Given the description of an element on the screen output the (x, y) to click on. 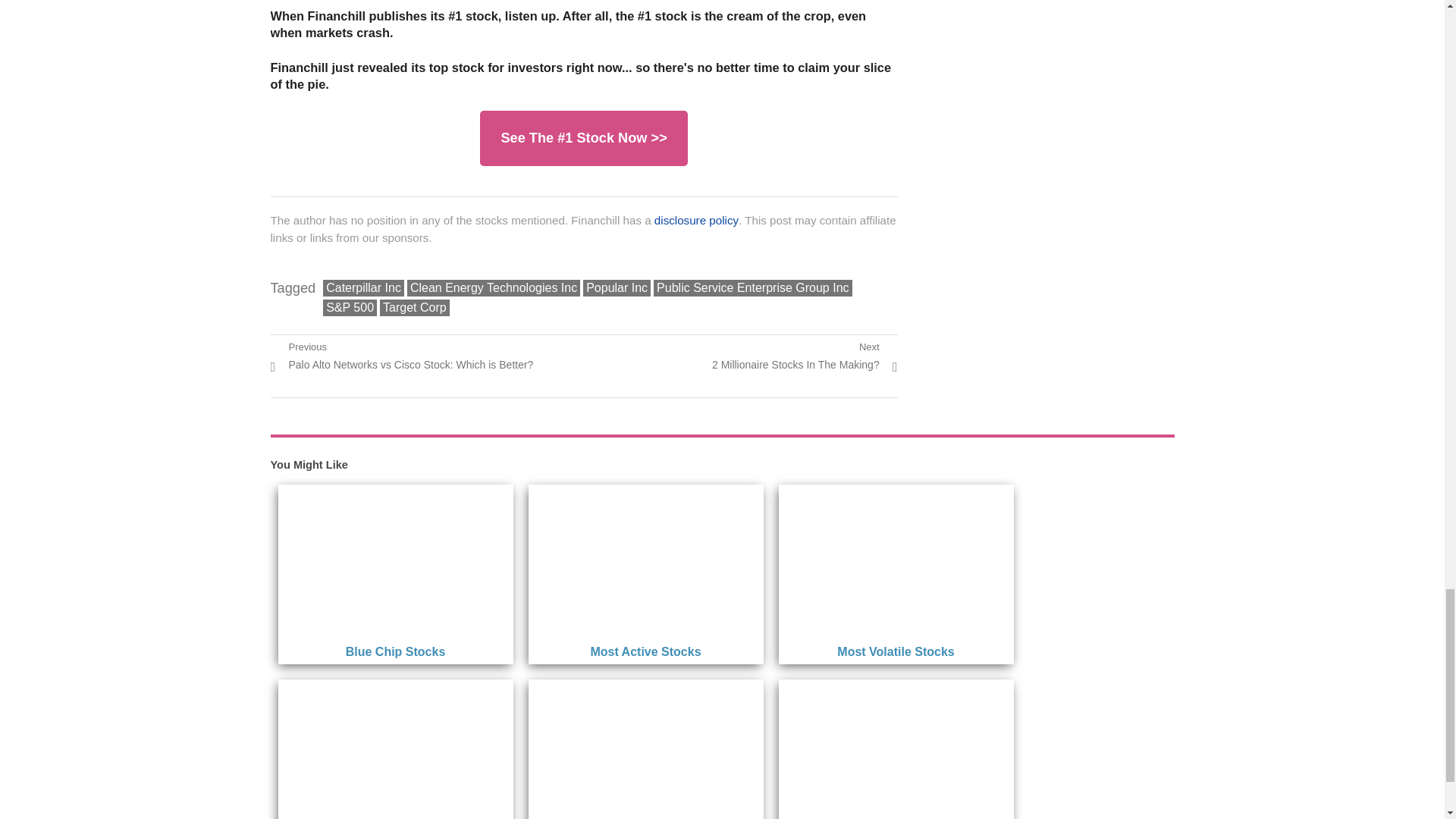
Popular Inc (616, 288)
Public Service Enterprise Group Inc (752, 288)
Caterpillar Inc (363, 288)
Clean Energy Technologies Inc (493, 288)
Target Corp (414, 307)
disclosure policy (804, 356)
